Given the description of an element on the screen output the (x, y) to click on. 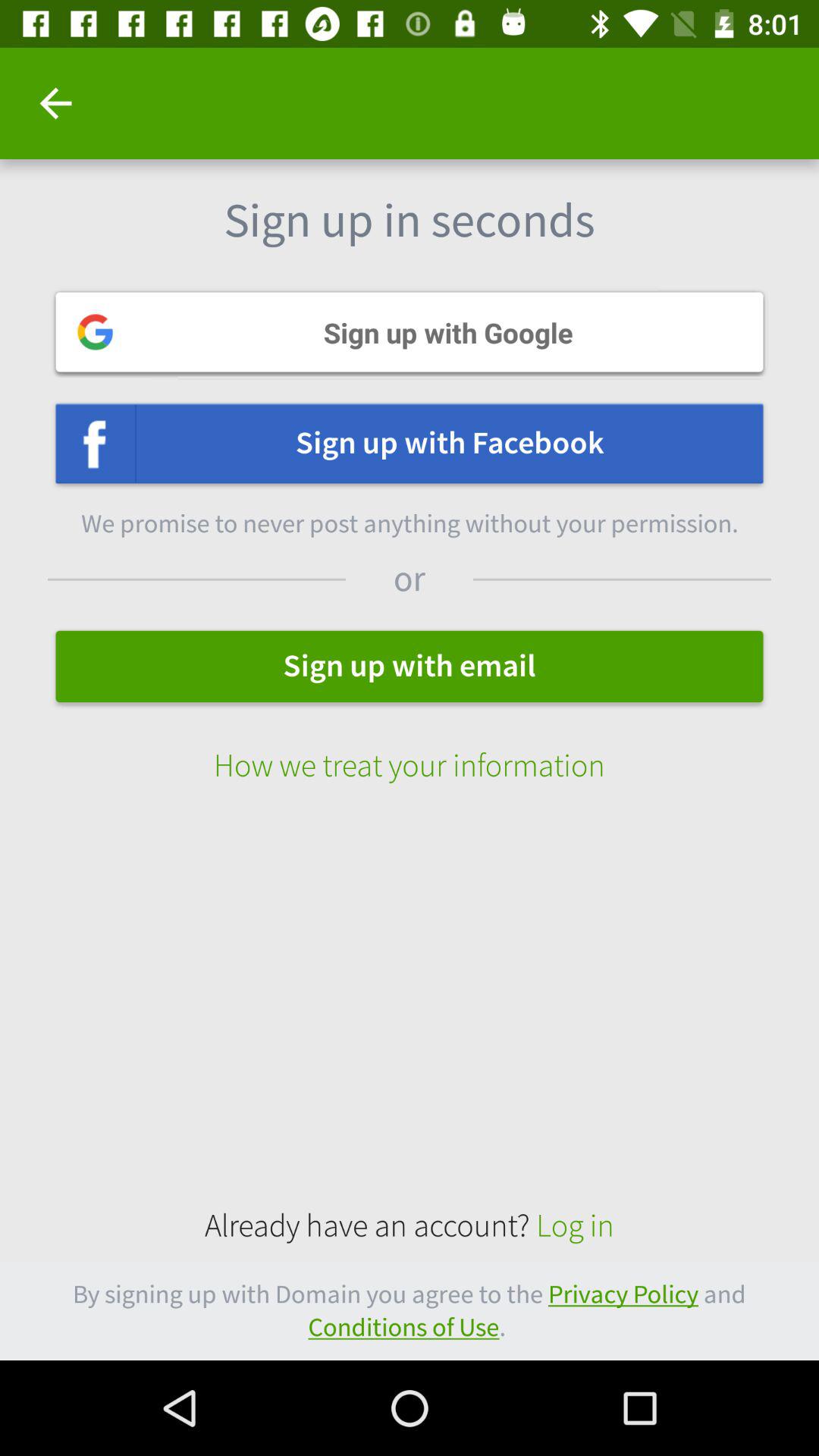
flip to the by signing up icon (409, 1311)
